Given the description of an element on the screen output the (x, y) to click on. 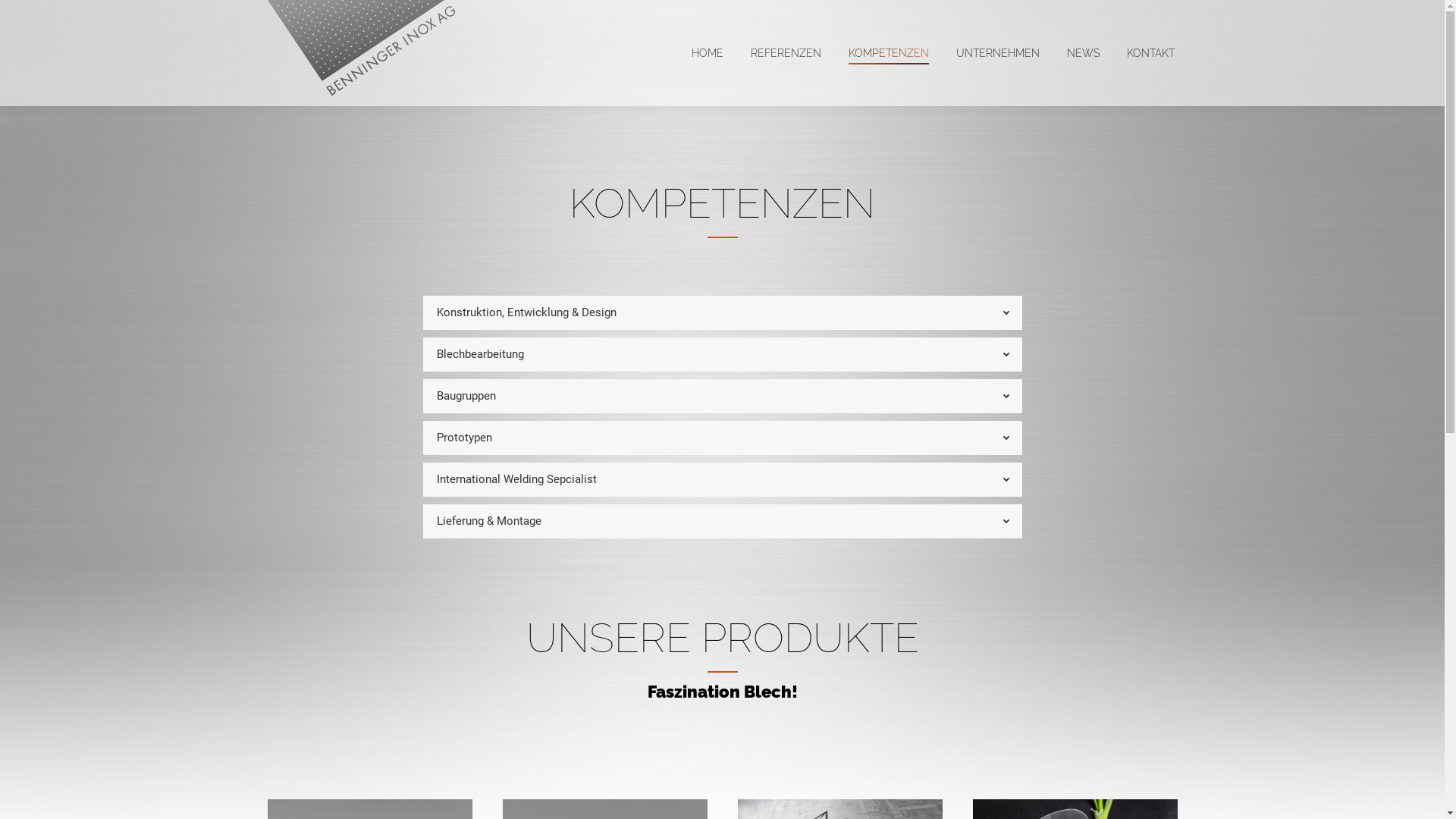
Baugruppen Element type: text (722, 396)
REFERENZEN Element type: text (785, 52)
UNTERNEHMEN Element type: text (996, 52)
Blechbearbeitung Element type: text (722, 354)
Konstruktion, Entwicklung & Design Element type: text (722, 312)
KOMPETENZEN Element type: text (887, 52)
Lieferung & Montage Element type: text (722, 521)
International Welding Sepcialist Element type: text (722, 479)
HOME Element type: text (707, 52)
KONTAKT Element type: text (1150, 52)
NEWS Element type: text (1082, 52)
Prototypen Element type: text (722, 437)
